Given the description of an element on the screen output the (x, y) to click on. 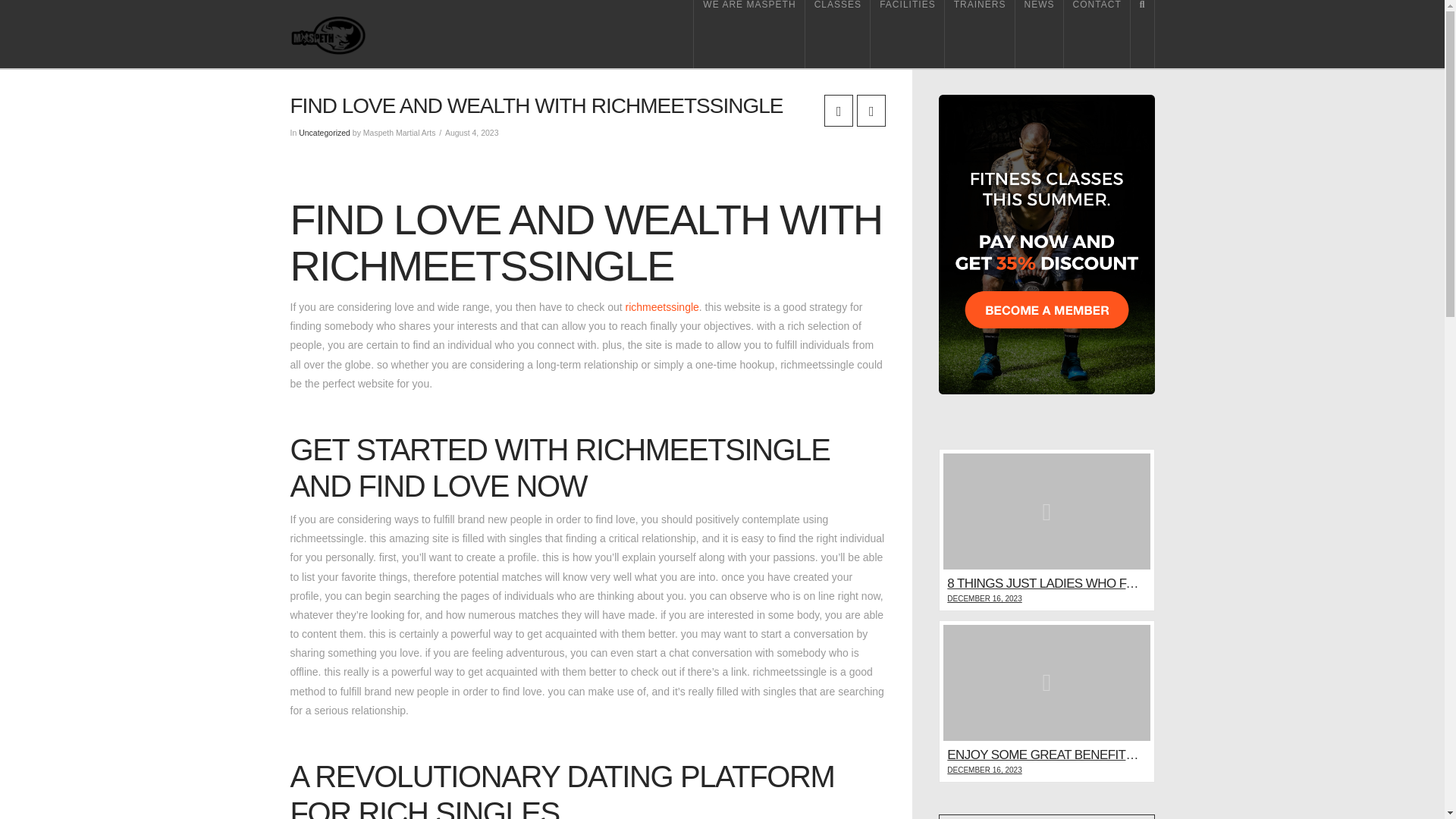
TRAINERS (979, 33)
CONTACT (1097, 33)
FACILITIES (907, 33)
CLASSES (837, 33)
richmeetssingle (662, 306)
Uncategorized (324, 132)
